Given the description of an element on the screen output the (x, y) to click on. 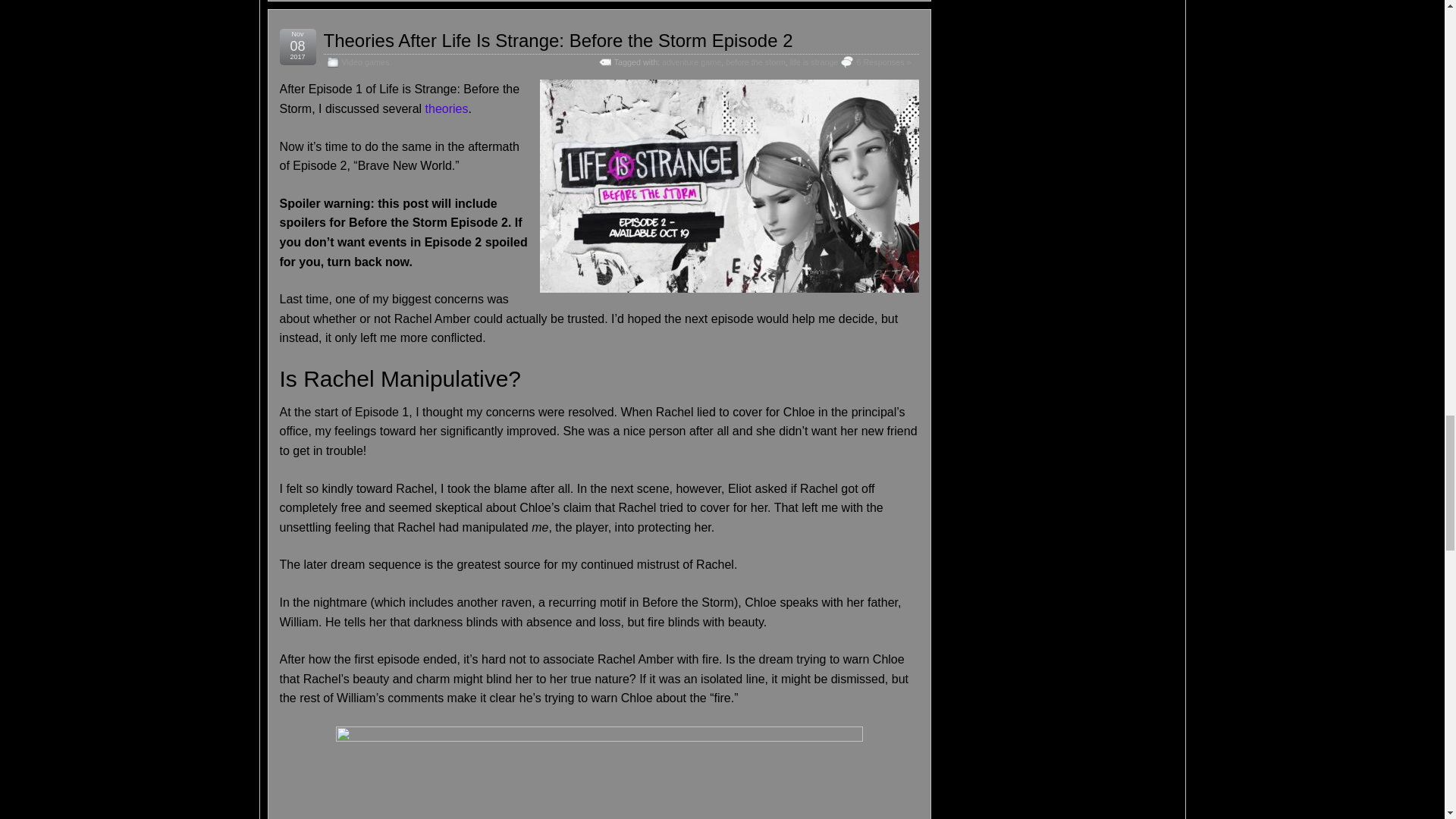
Theories After Life Is Strange: Before the Storm Episode 2 (557, 40)
life is strange (814, 61)
Theories After Life Is Strange: Before the Storm Episode 2 (557, 40)
adventure game (691, 61)
before the storm (755, 61)
Video games (364, 61)
